Given the description of an element on the screen output the (x, y) to click on. 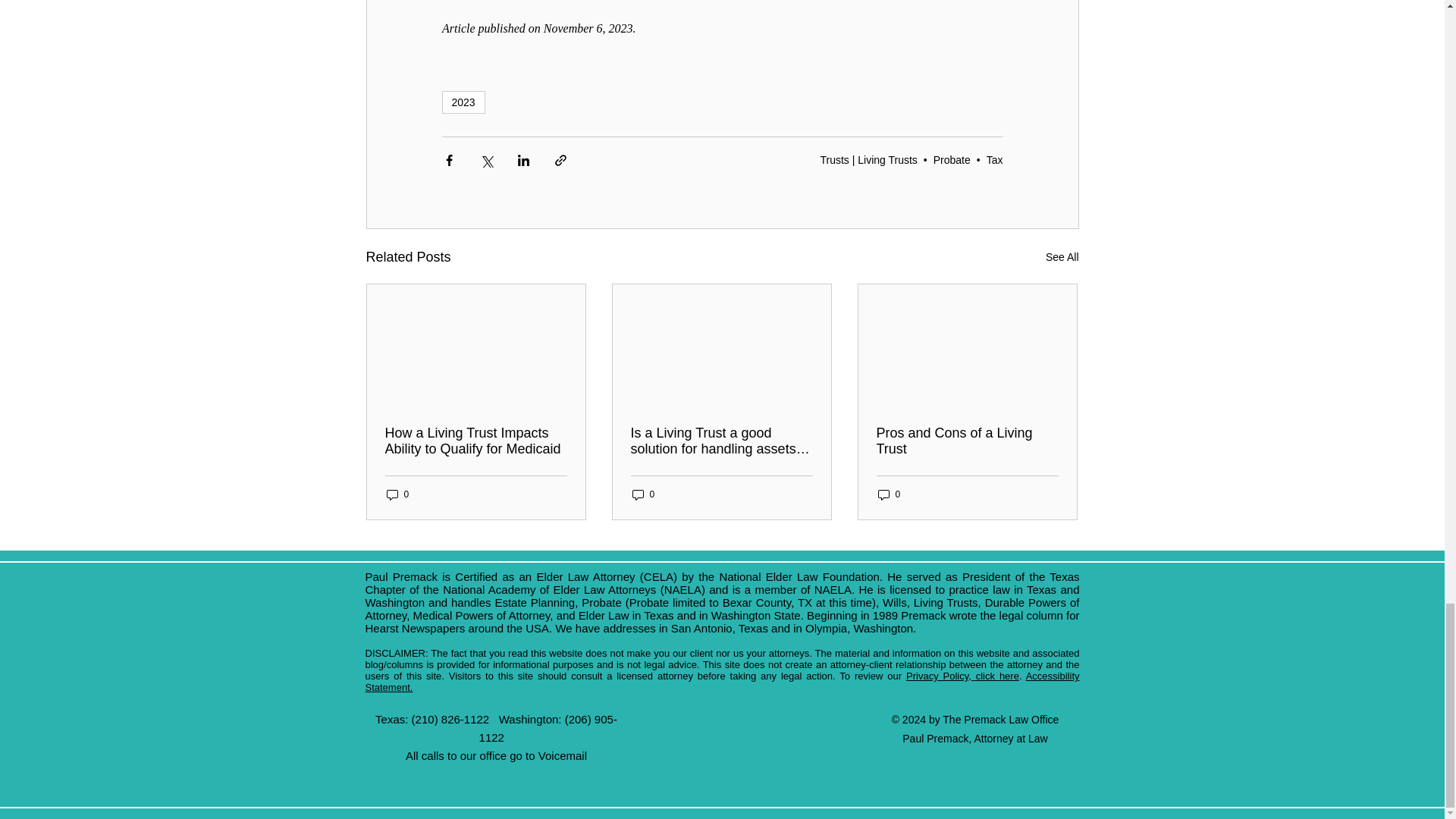
2023 (462, 101)
